Given the description of an element on the screen output the (x, y) to click on. 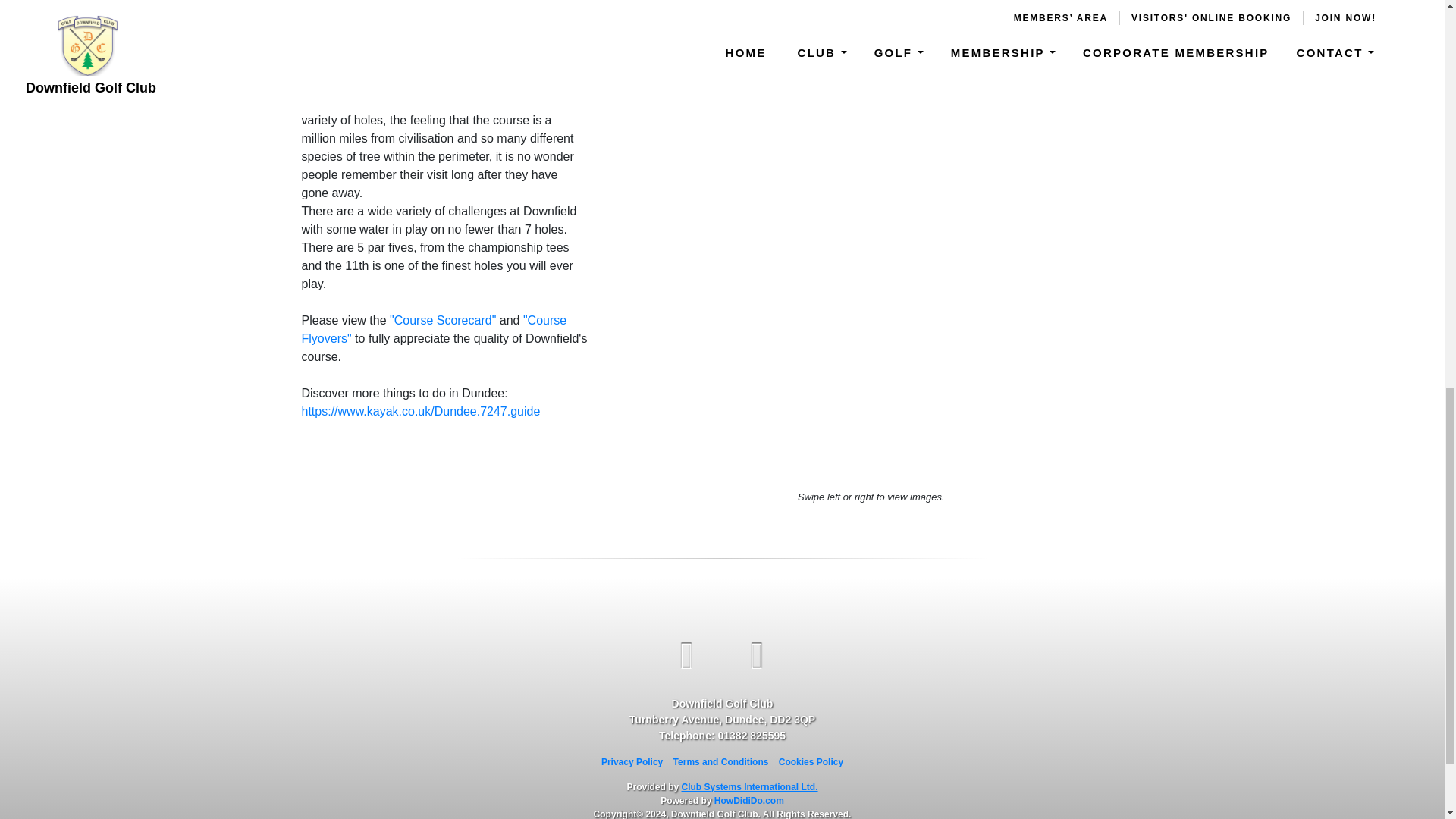
"Course Flyovers" (434, 328)
Open our official Facebook page. (686, 656)
Open our official Twitter page. (757, 656)
HowDidiDo.com (749, 799)
Terms and Conditions (720, 762)
Privacy Policy (631, 762)
Cookies Policy (810, 762)
Club Systems International Ltd. (748, 786)
"Course Scorecard" (443, 319)
